Given the description of an element on the screen output the (x, y) to click on. 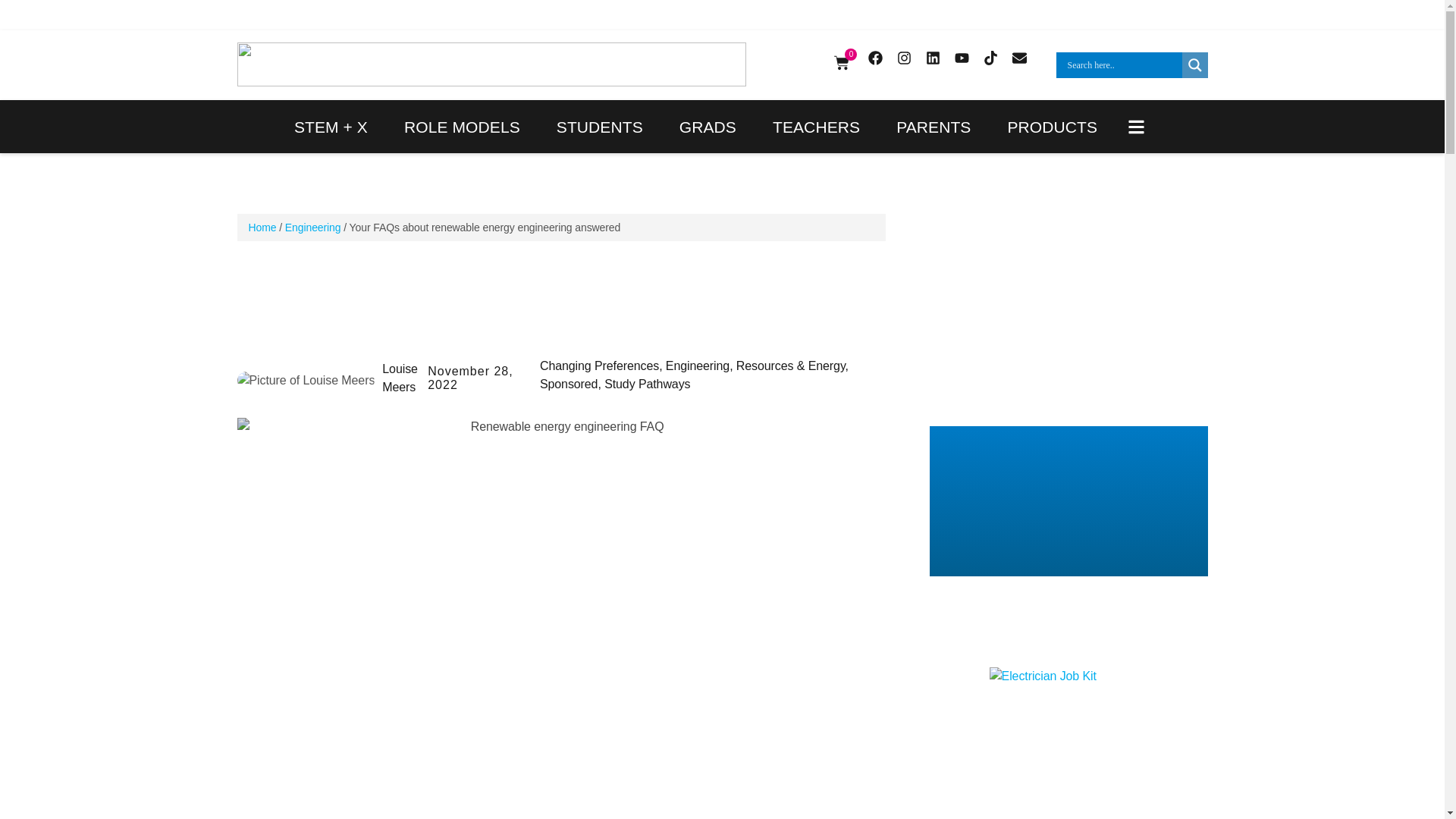
ROLE MODELS (462, 126)
STUDENTS (599, 126)
GRADS (708, 126)
TEACHERS (816, 126)
